Given the description of an element on the screen output the (x, y) to click on. 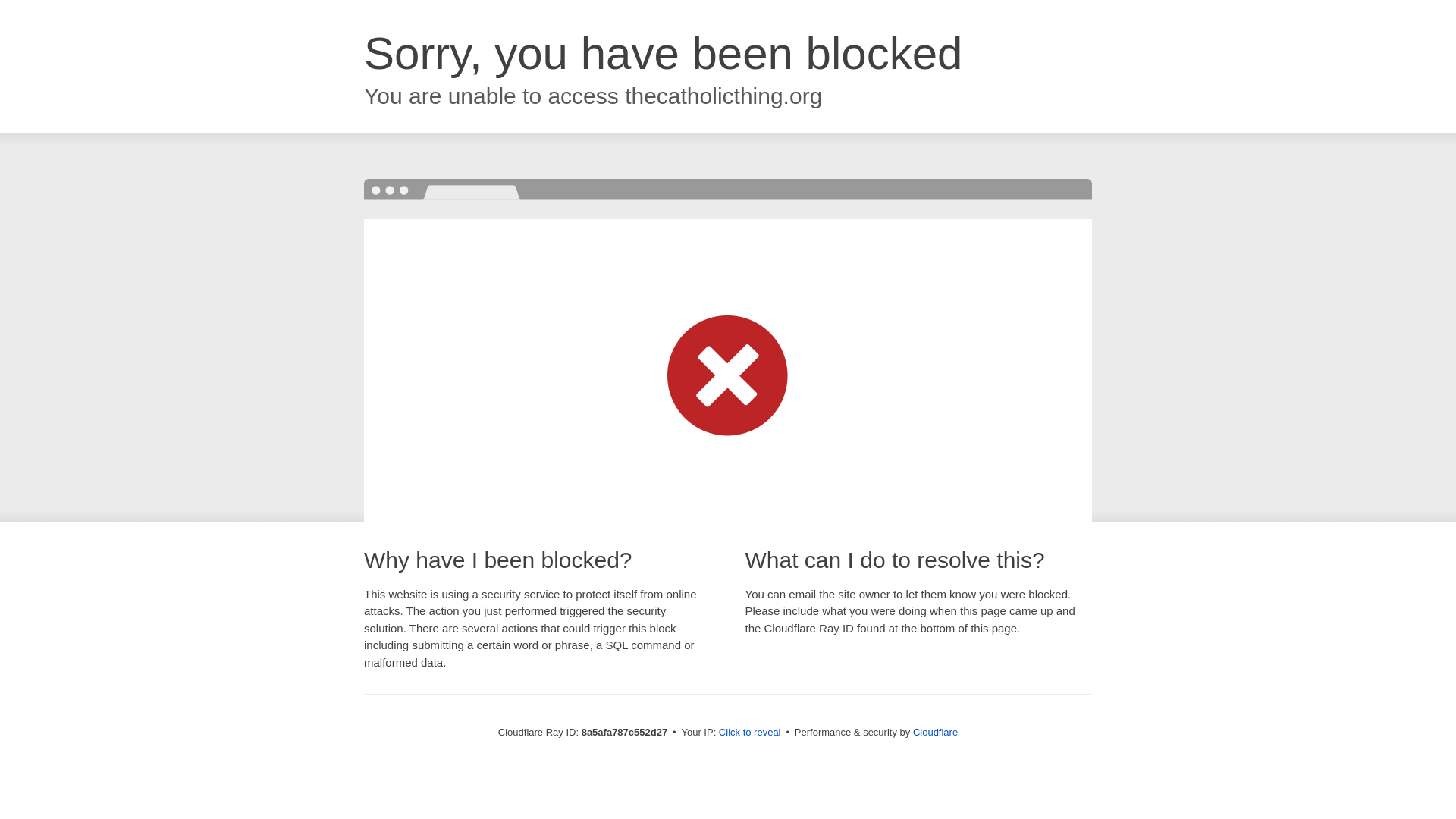
Cloudflare (935, 731)
Click to reveal (749, 732)
